Given the description of an element on the screen output the (x, y) to click on. 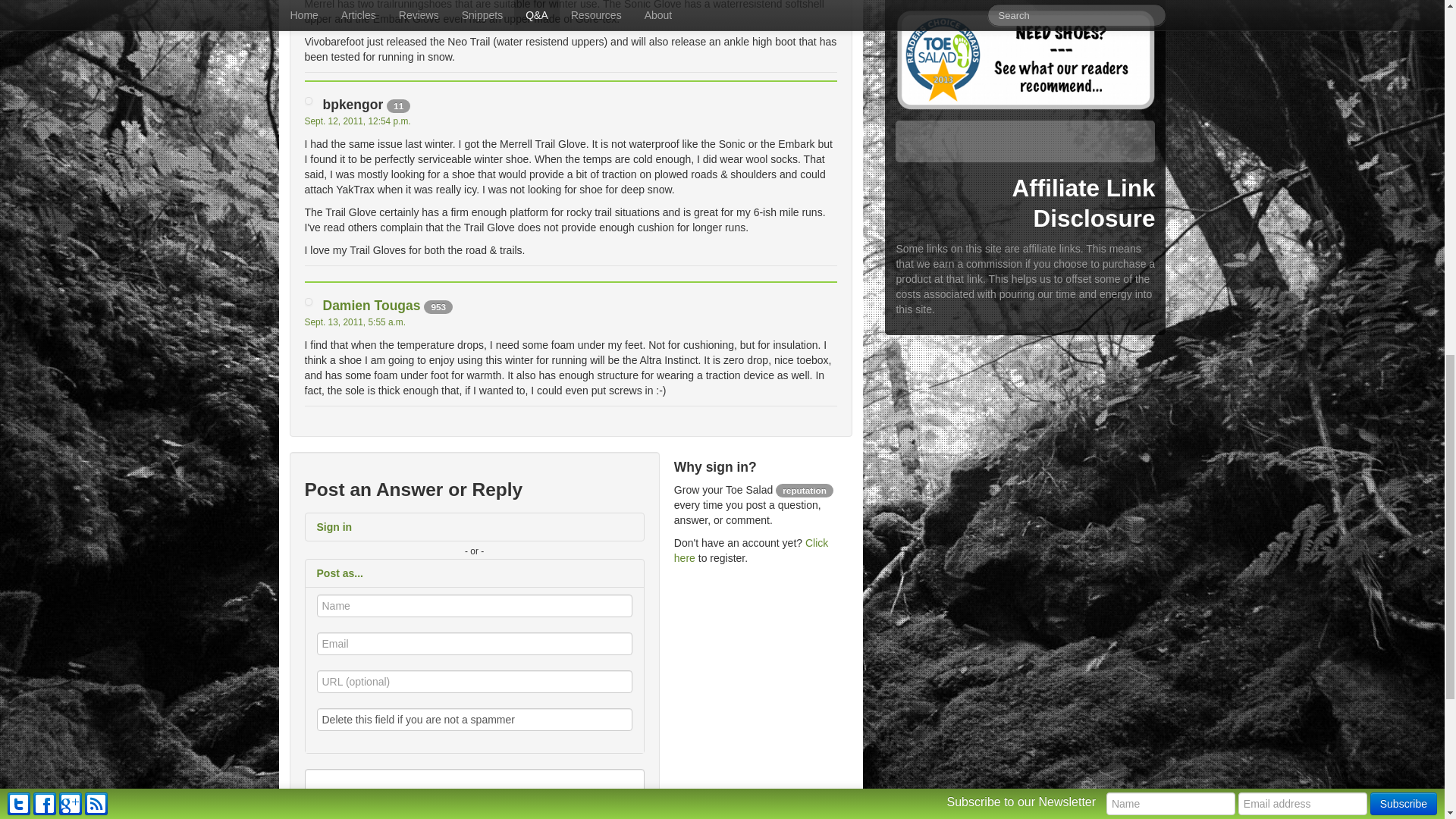
Sign in (473, 526)
Sept. 13, 2011, 5:55 a.m. (355, 321)
Delete this field if you are not a spammer (474, 719)
Post as... (473, 573)
Damien Tougas (371, 305)
Sept. 12, 2011, 12:54 p.m. (357, 121)
Click here (751, 550)
